Given the description of an element on the screen output the (x, y) to click on. 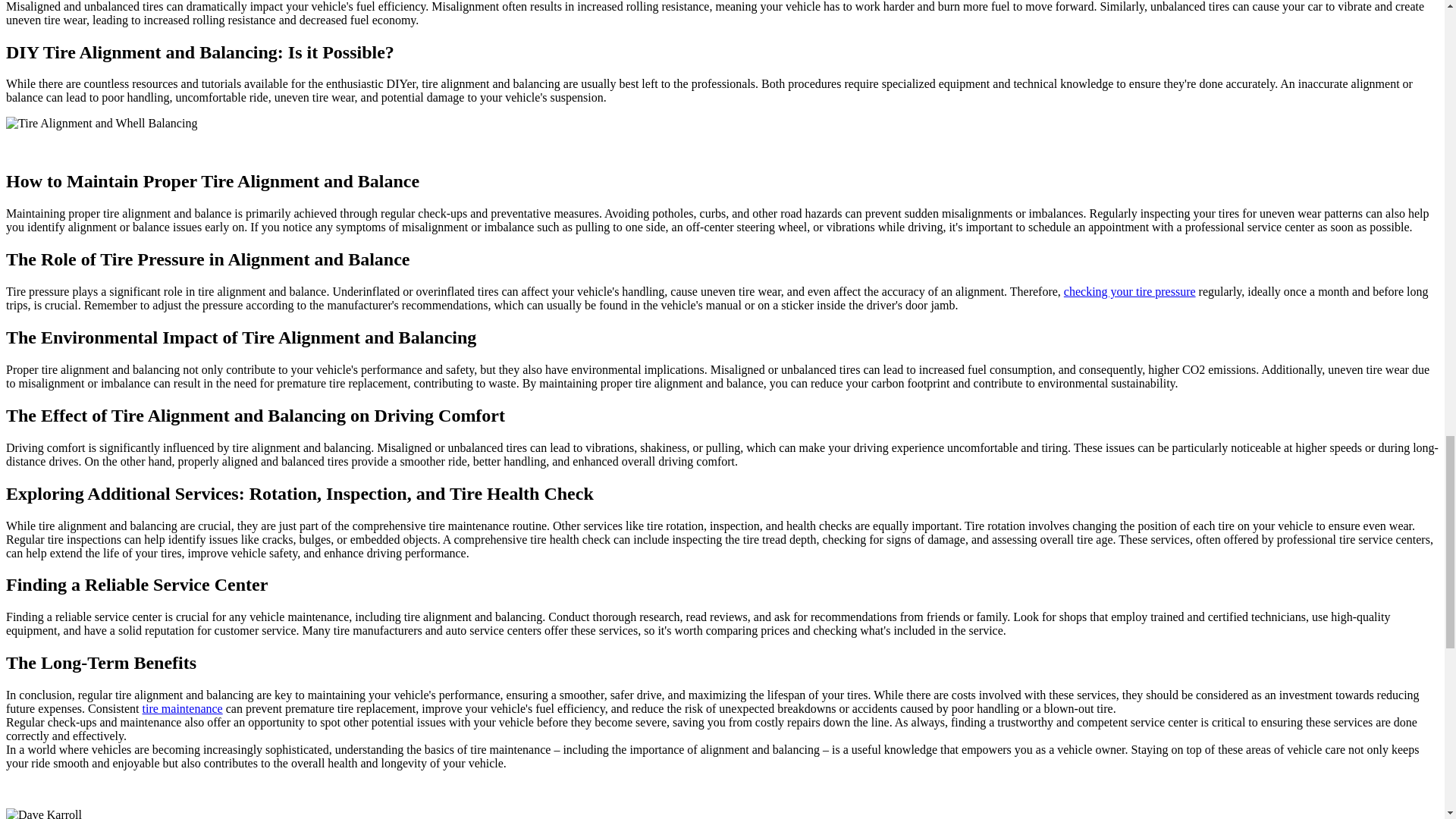
tire maintenance (182, 707)
checking your tire pressure (1129, 291)
